Given the description of an element on the screen output the (x, y) to click on. 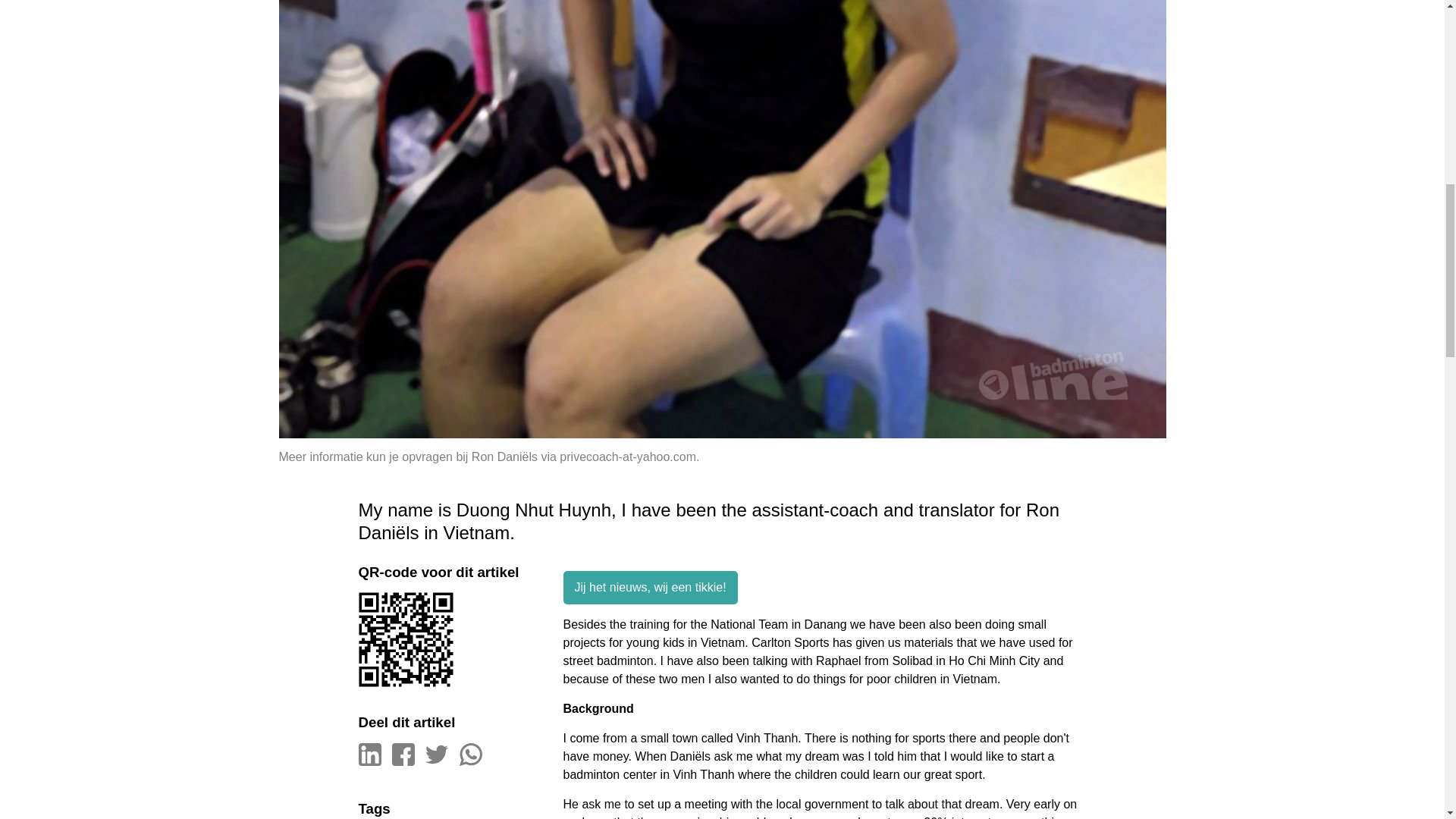
Jij het nieuws, wij een tikkie! (649, 587)
